Given the description of an element on the screen output the (x, y) to click on. 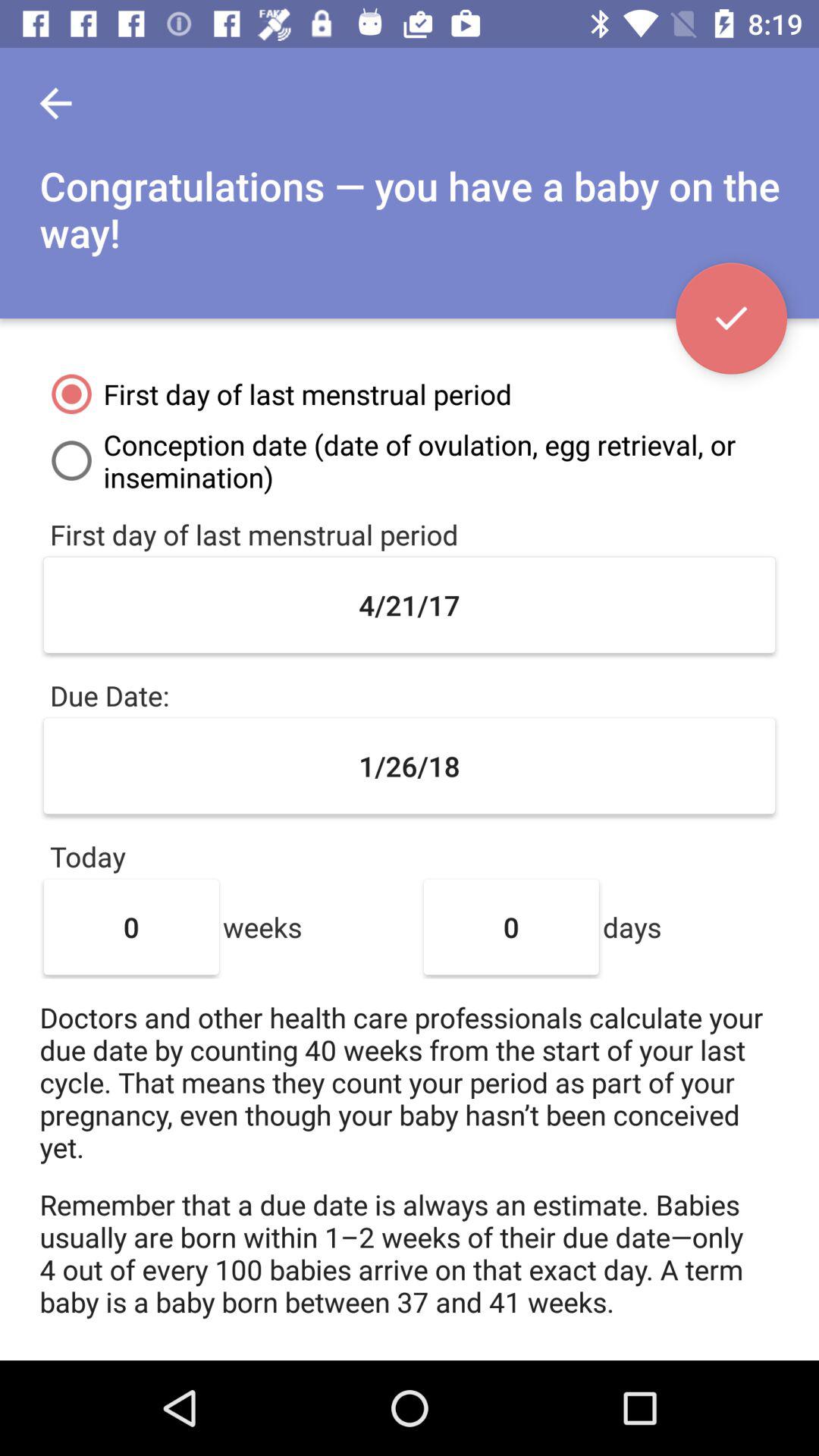
launch icon above the today item (409, 765)
